Given the description of an element on the screen output the (x, y) to click on. 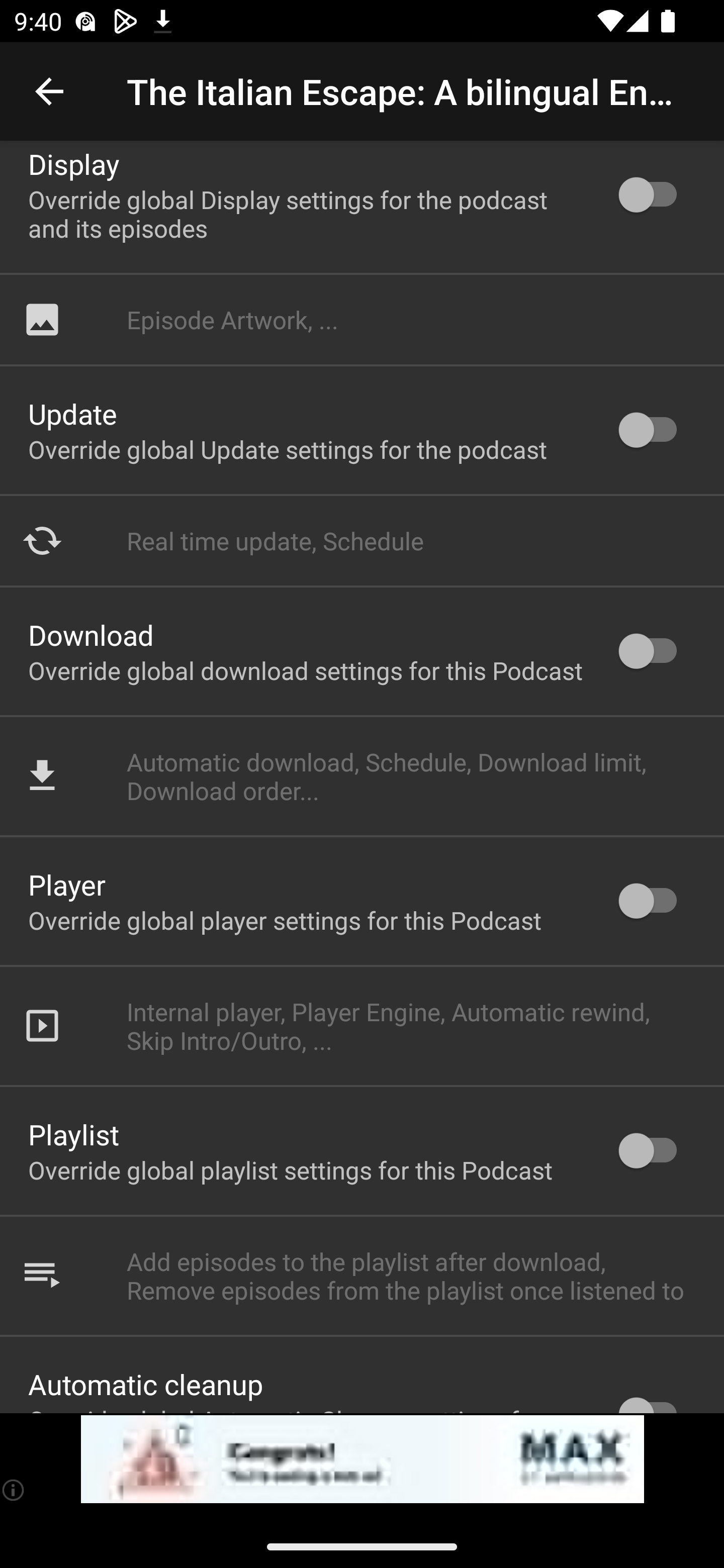
Navigate up (49, 91)
Episode Artwork, ... (362, 318)
Real time update, Schedule (362, 539)
app-monetization (362, 1459)
(i) (14, 1489)
